Given the description of an element on the screen output the (x, y) to click on. 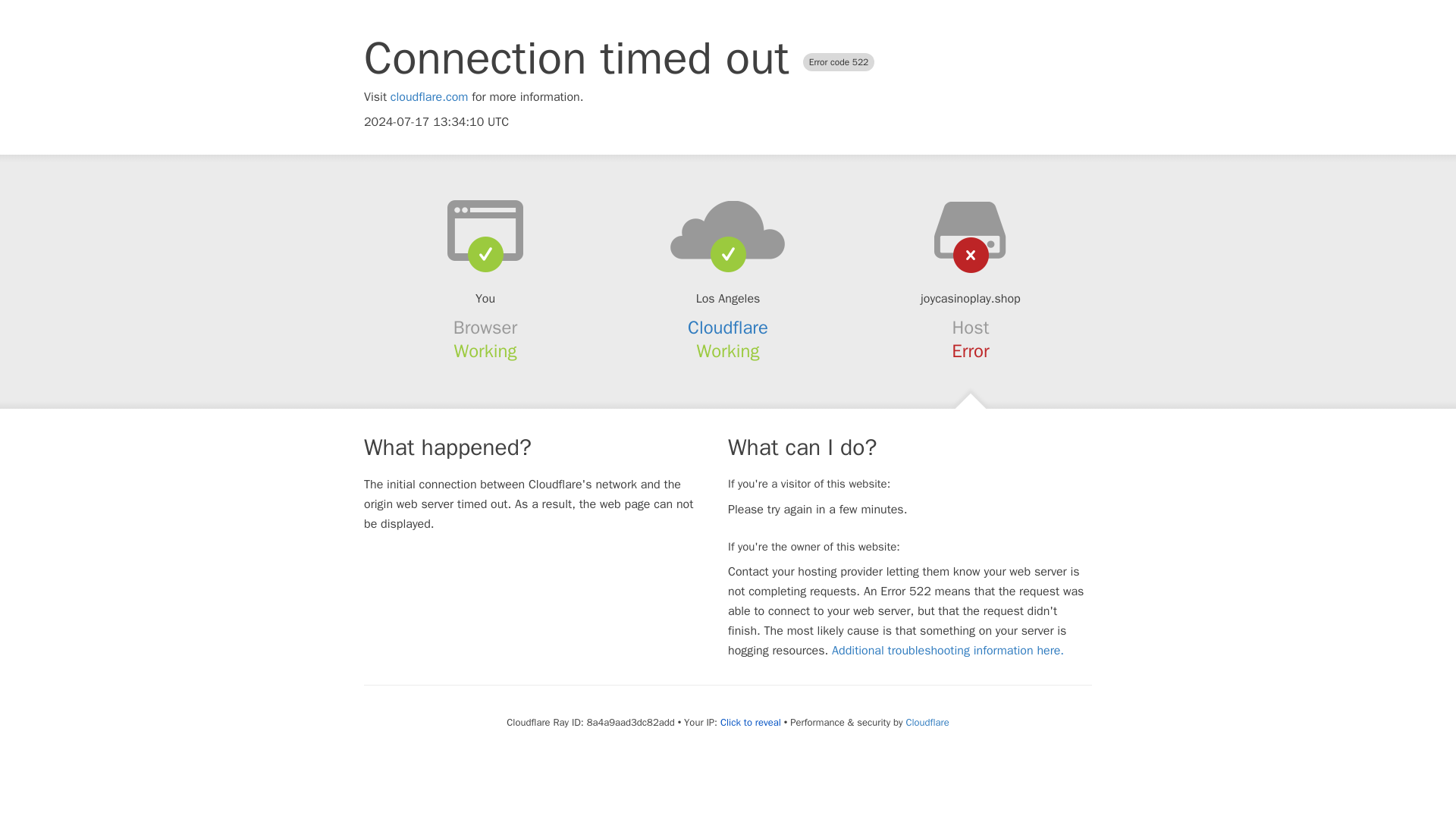
Click to reveal (750, 722)
cloudflare.com (429, 96)
Additional troubleshooting information here. (947, 650)
Cloudflare (727, 327)
Cloudflare (927, 721)
